Given the description of an element on the screen output the (x, y) to click on. 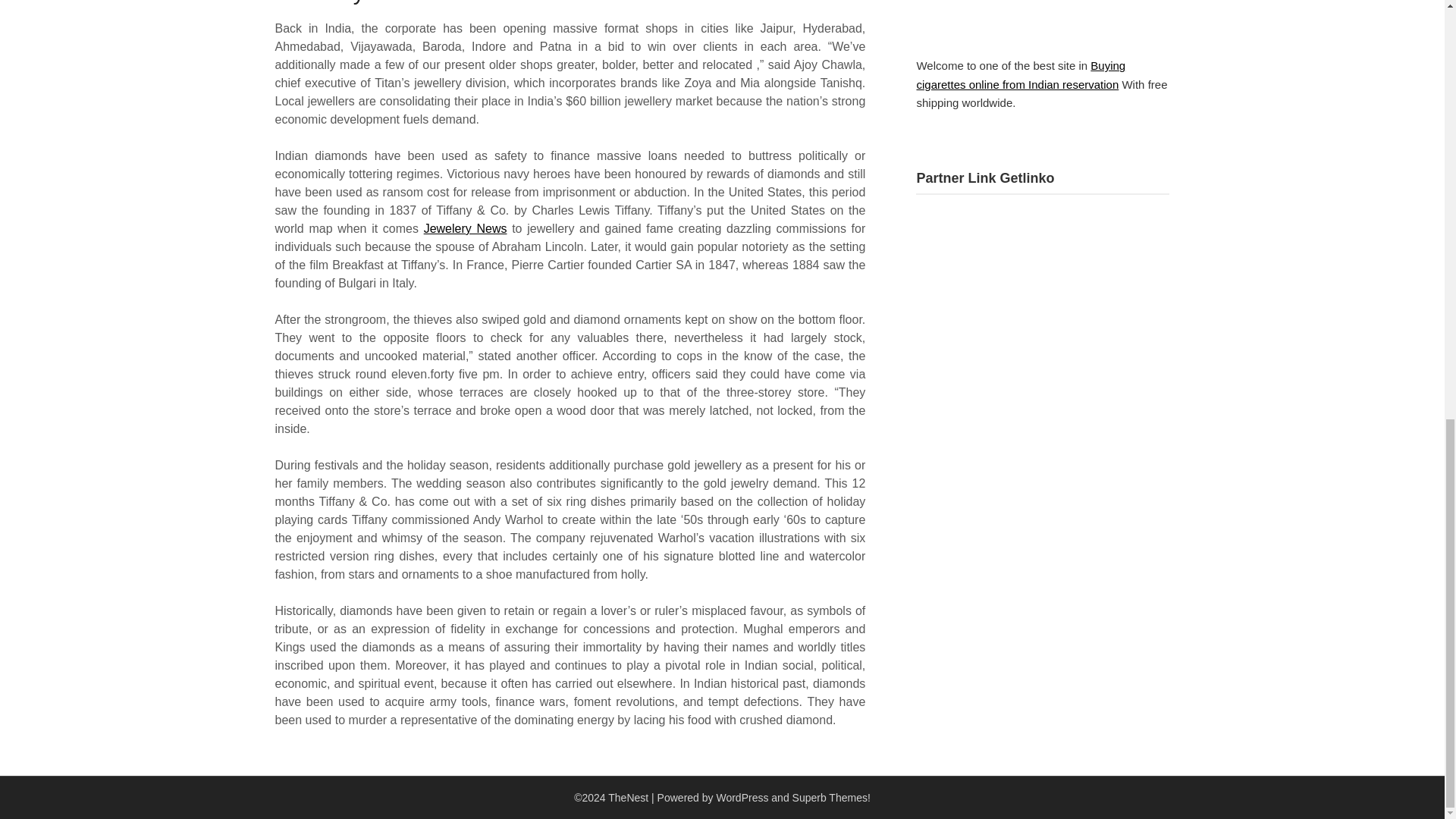
Jewelery News (464, 228)
